Given the description of an element on the screen output the (x, y) to click on. 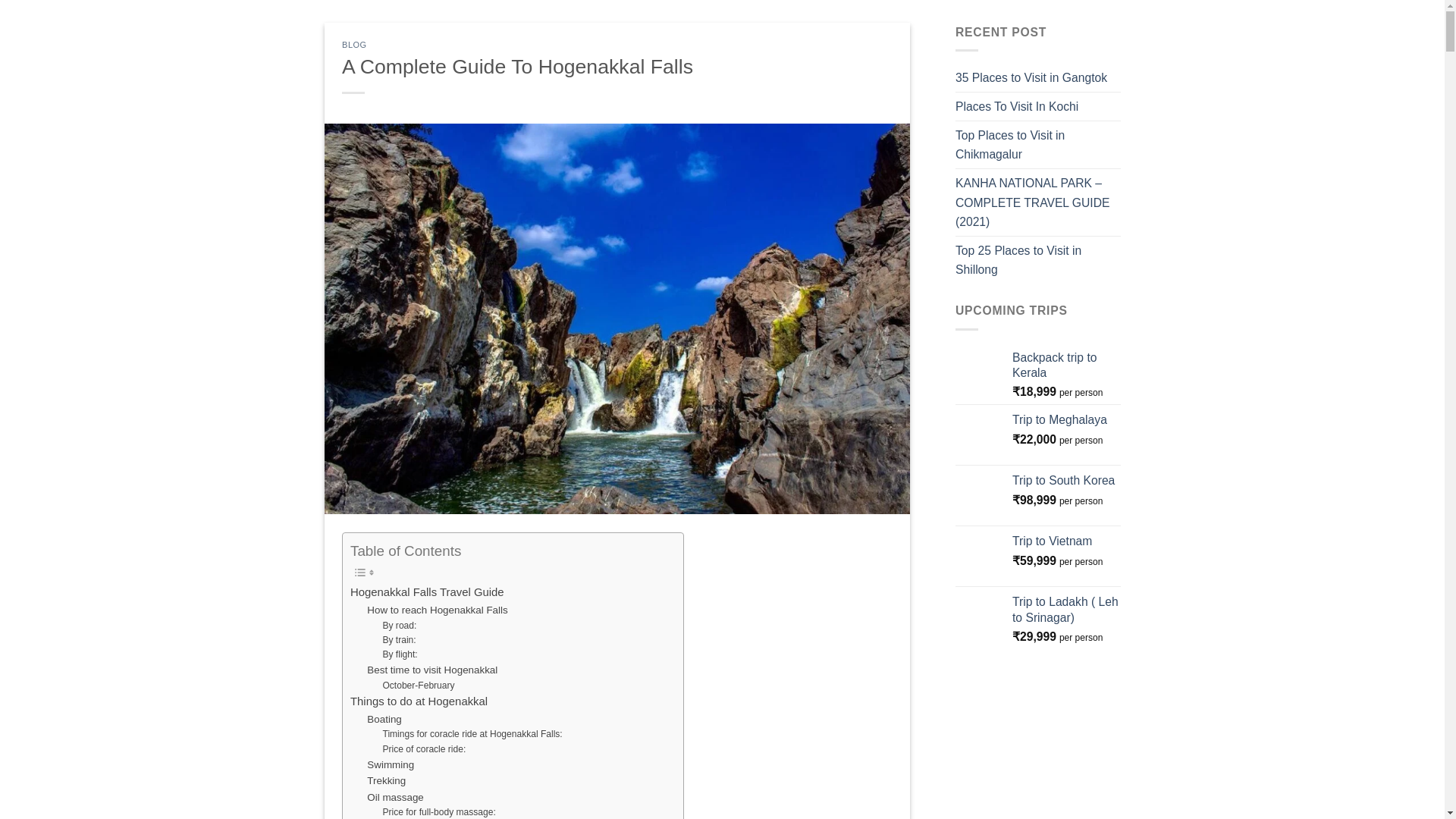
Boating (383, 719)
HOME (194, 15)
GET IN TOUCH (922, 15)
Best time to visit Hogenakkal (431, 669)
By train: (397, 640)
Boating (383, 719)
By flight: (398, 654)
Swimming (389, 764)
Hogenakkal Falls Travel Guide (426, 592)
October-February (417, 685)
By road: (398, 626)
Trekking (386, 780)
Things to do at Hogenakkal (418, 701)
BLOG (354, 44)
